Given the description of an element on the screen output the (x, y) to click on. 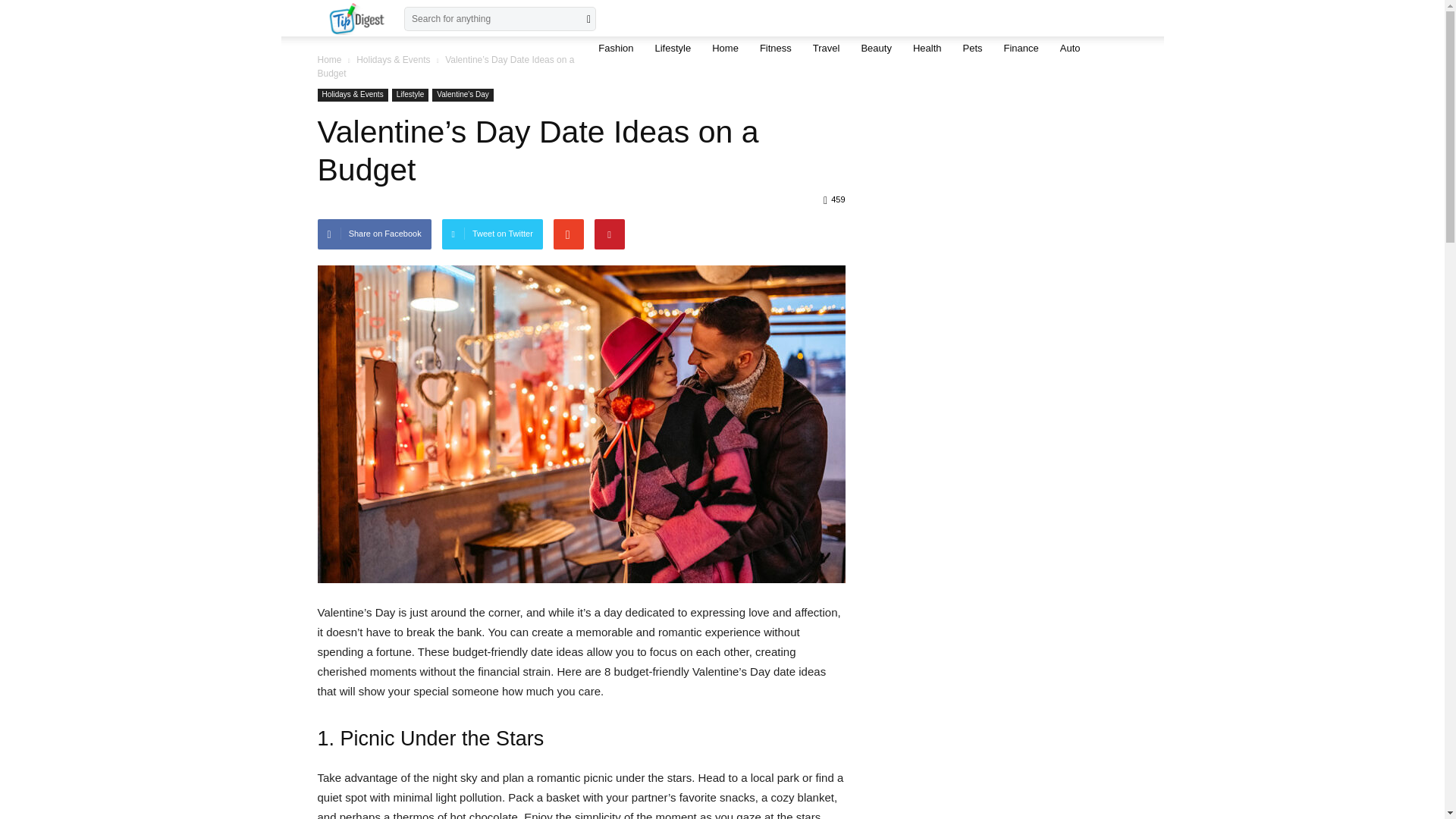
Auto (1069, 48)
Beauty (875, 48)
Home (328, 59)
Pets (972, 48)
Travel (826, 48)
Home (725, 48)
Lifestyle (410, 94)
Valentine's Day (462, 94)
Fitness (775, 48)
Fashion (615, 48)
Finance (1020, 48)
Lifestyle (672, 48)
Health (927, 48)
